Given the description of an element on the screen output the (x, y) to click on. 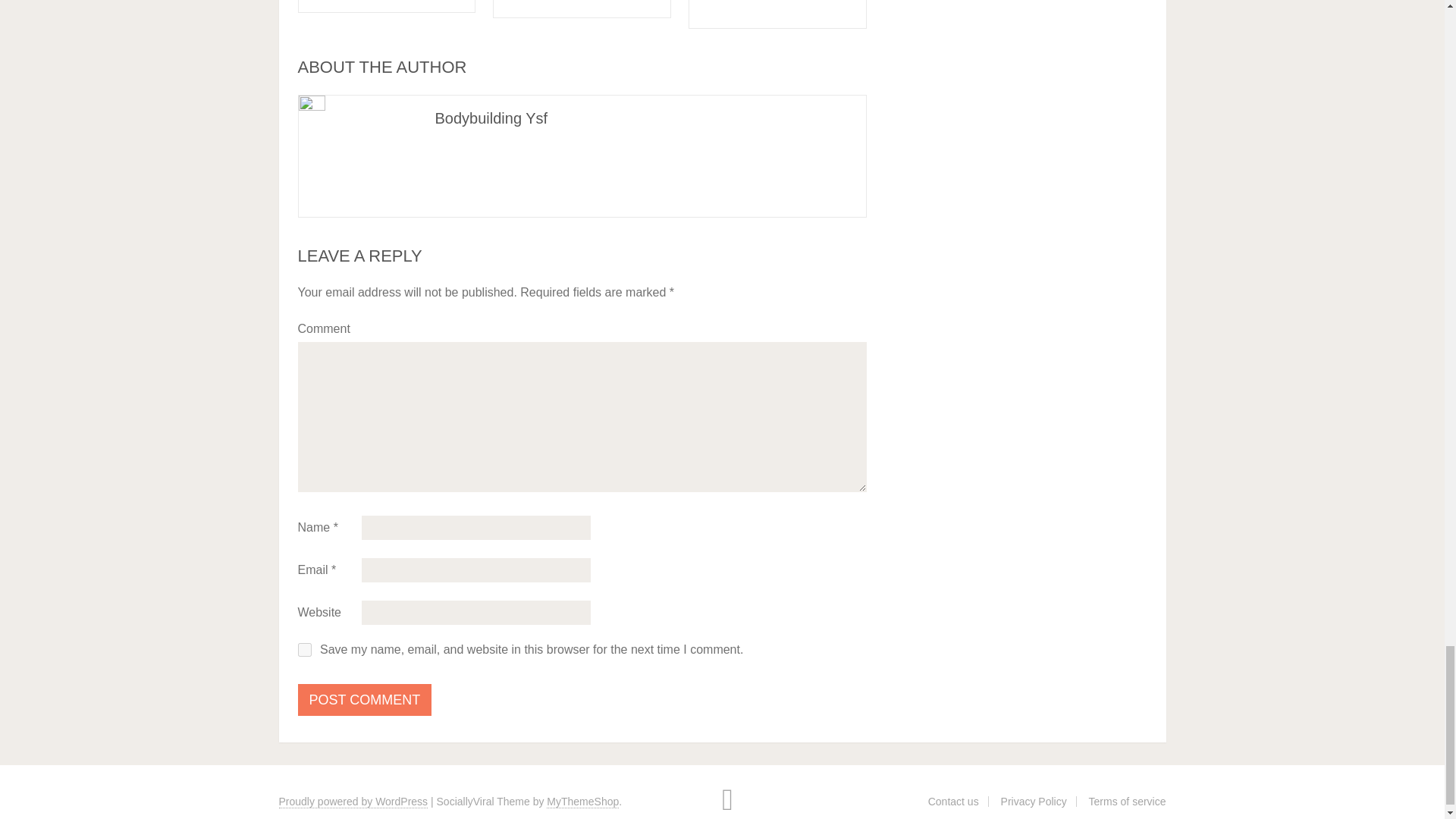
Post Comment (363, 699)
Contact us (953, 801)
Proudly powered by WordPress (353, 801)
MyThemeShop (582, 801)
Terms of service (1127, 801)
Bodybuilding Ysf (491, 117)
yes (304, 649)
Privacy Policy (1034, 801)
Post Comment (363, 699)
